Given the description of an element on the screen output the (x, y) to click on. 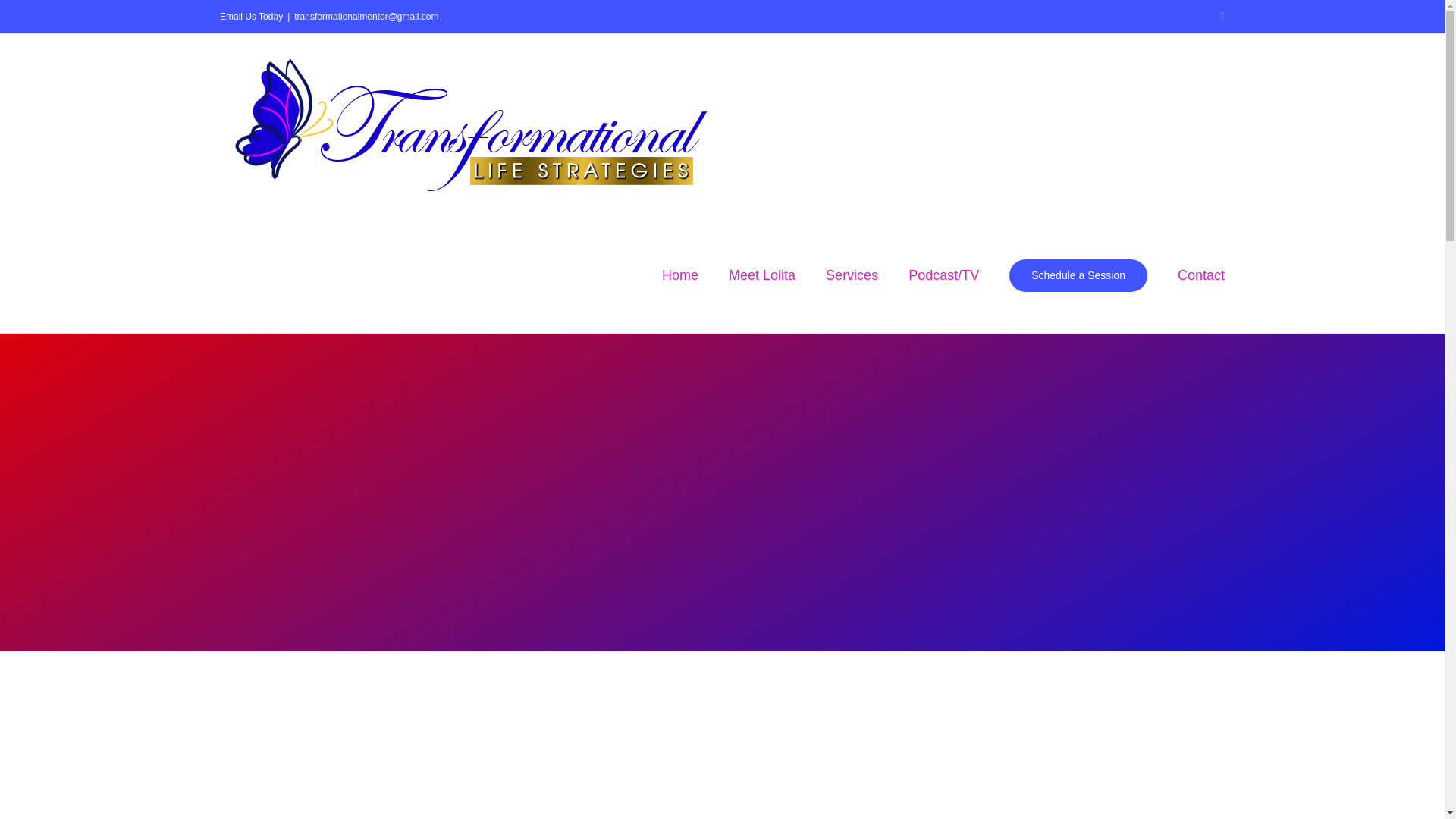
Schedule a Session (1078, 274)
